Given the description of an element on the screen output the (x, y) to click on. 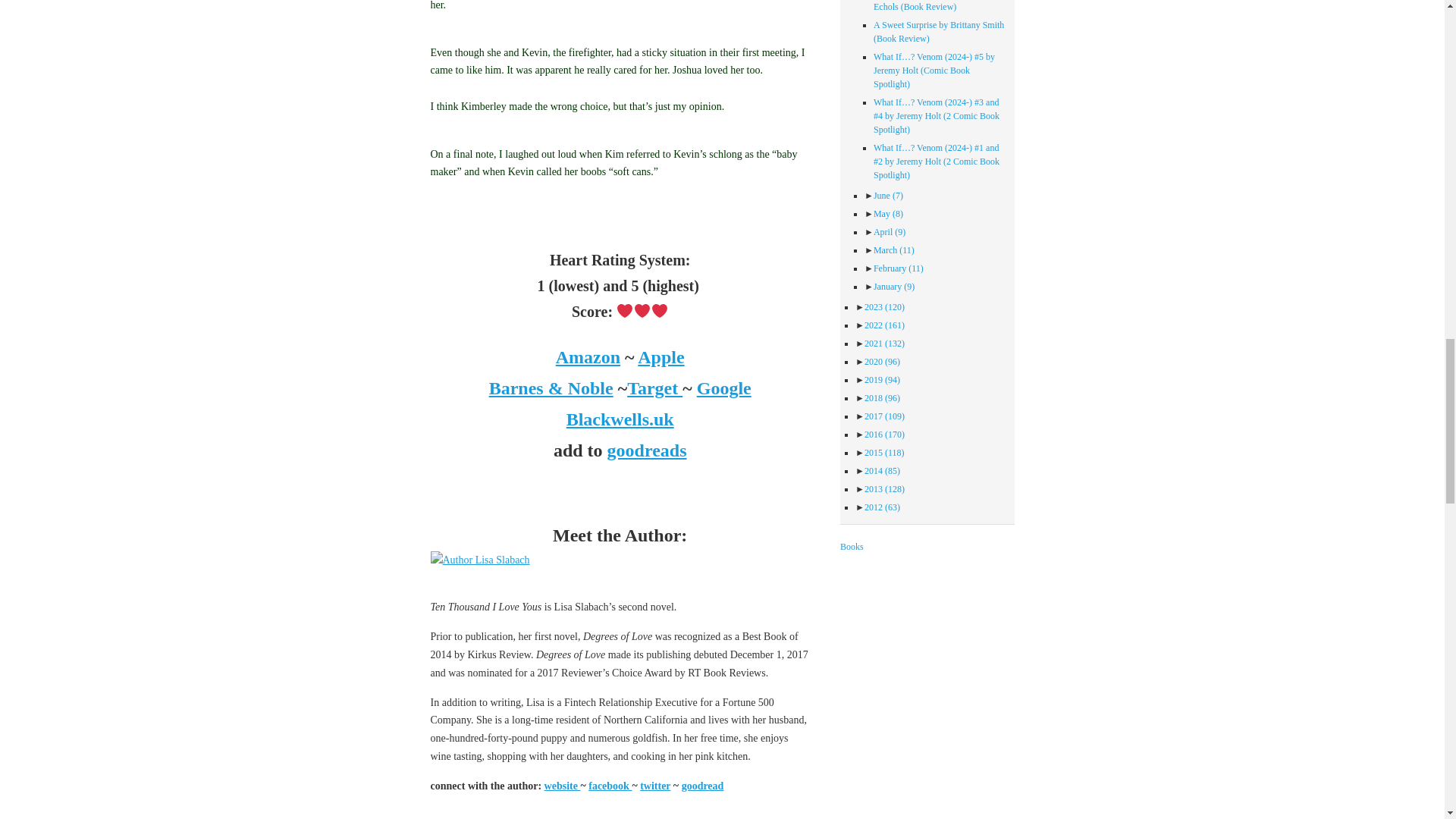
Amazon (588, 356)
goodreads (647, 450)
goodread (702, 785)
twitter (654, 785)
facebook  (609, 785)
Google (724, 388)
Apple (660, 356)
Blackwells.uk (620, 419)
website  (562, 785)
Target  (654, 388)
